Given the description of an element on the screen output the (x, y) to click on. 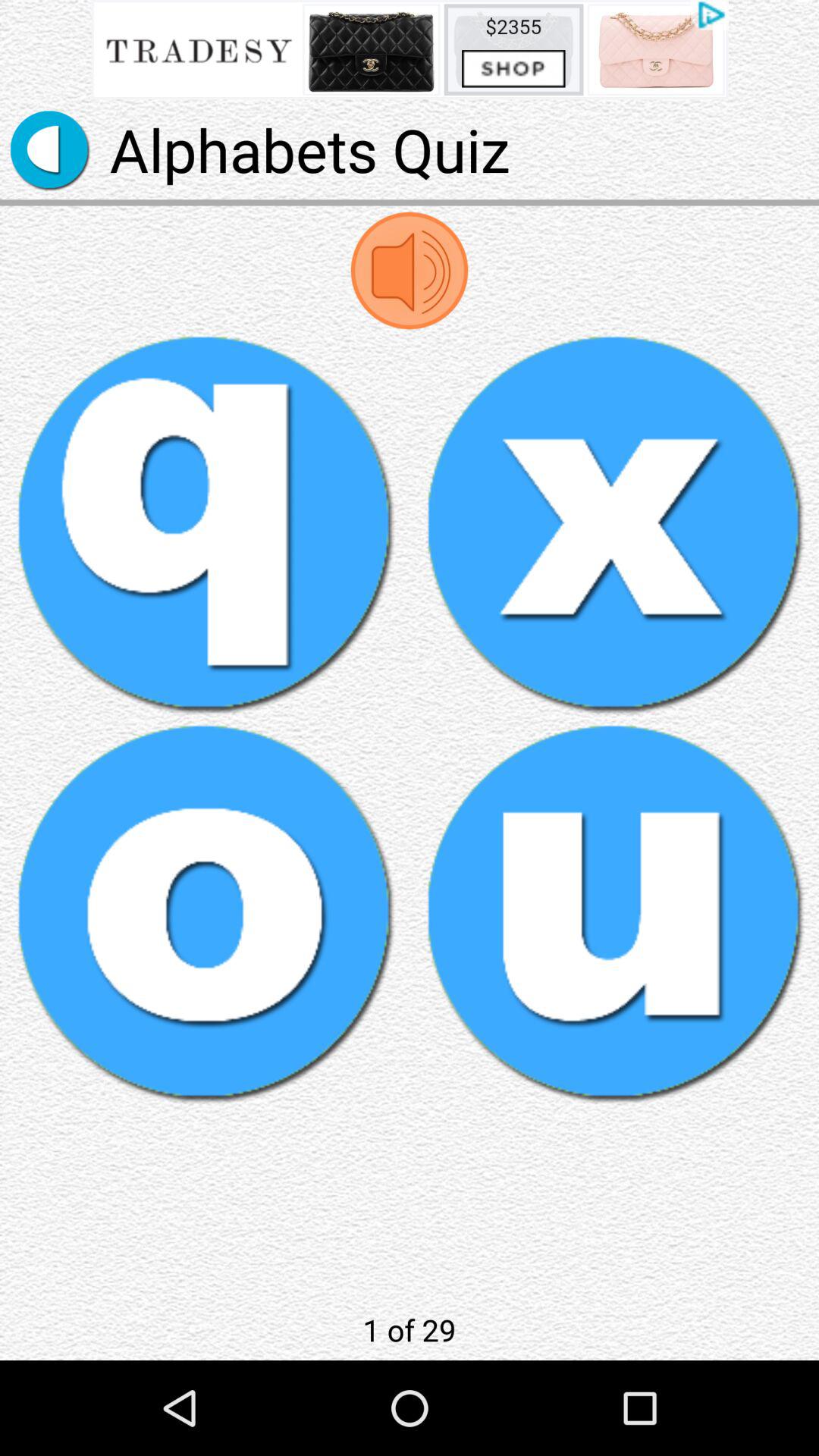
x button (614, 523)
